Given the description of an element on the screen output the (x, y) to click on. 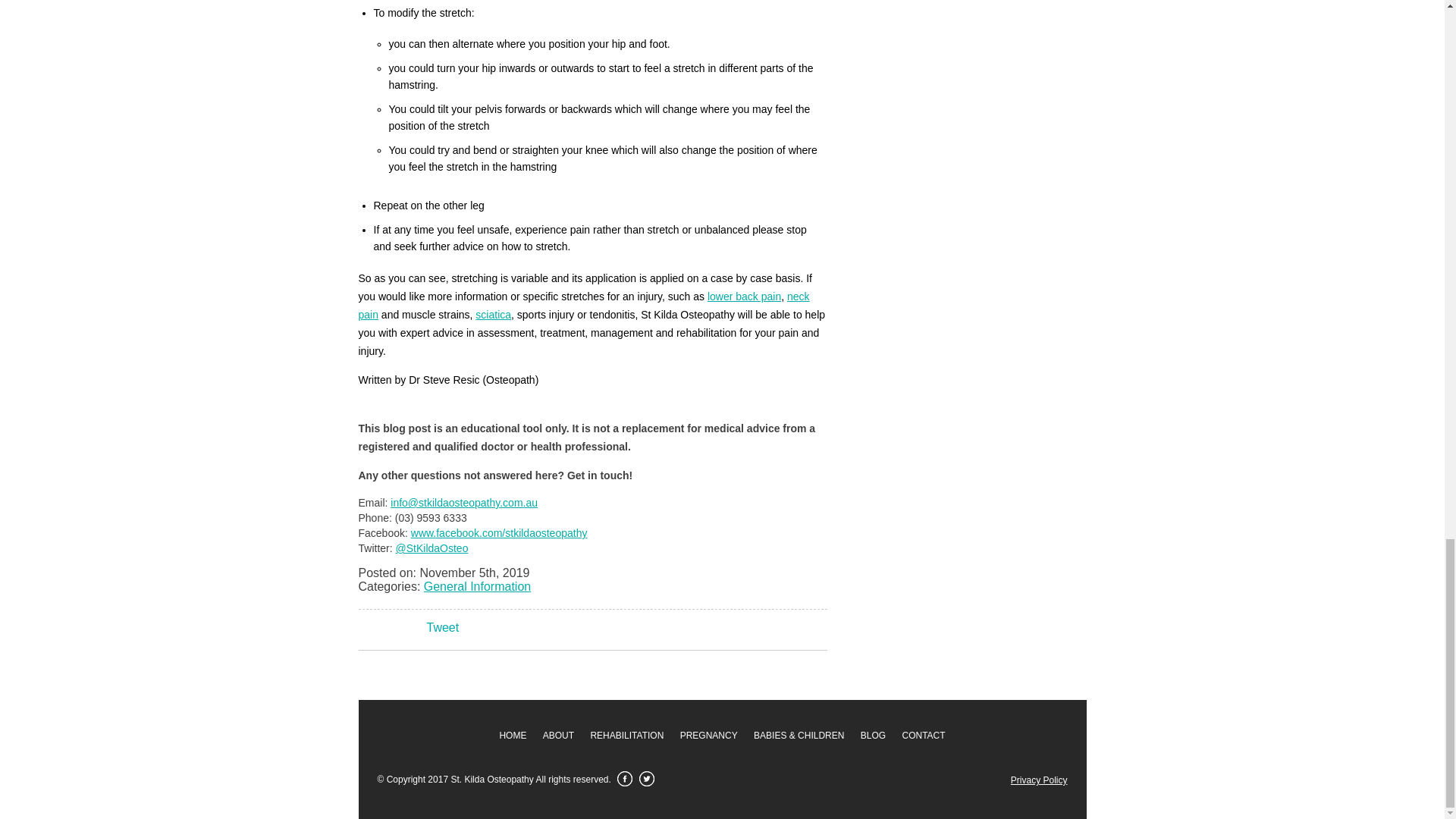
sciatica (493, 314)
lower back pain (743, 296)
neck pain (583, 305)
